Given the description of an element on the screen output the (x, y) to click on. 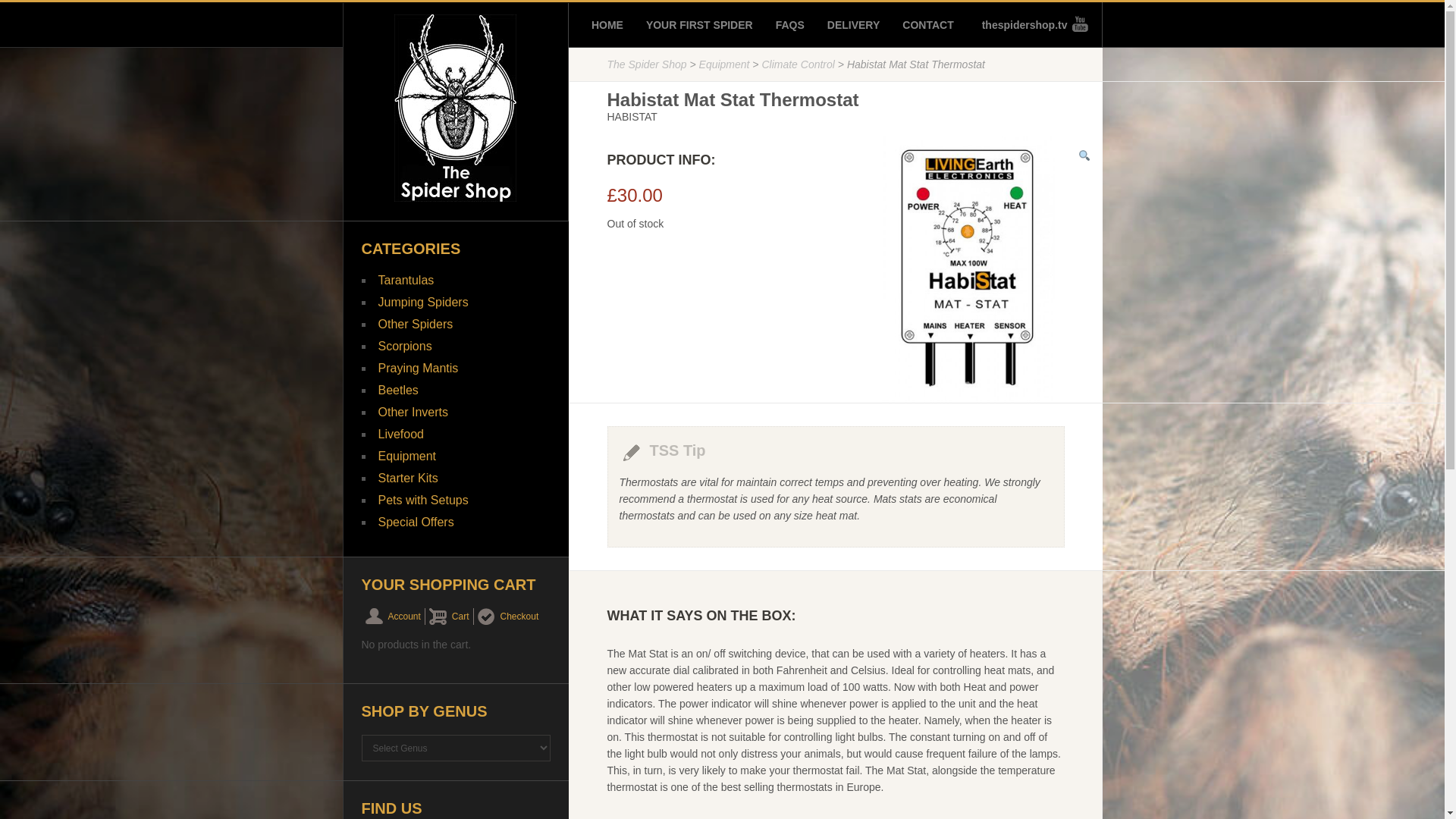
Climate Control (797, 64)
The Spider Shop (646, 64)
Other Spiders (414, 323)
Jumping Spiders (422, 301)
HOME (606, 24)
The Spider Shop (455, 107)
Praying Mantis (417, 367)
Beetles (397, 390)
Equipment (723, 64)
FAQS (790, 24)
Tarantulas (405, 279)
thespidershop.tv (1030, 24)
Scorpions (403, 345)
images (968, 269)
CONTACT (927, 24)
